Given the description of an element on the screen output the (x, y) to click on. 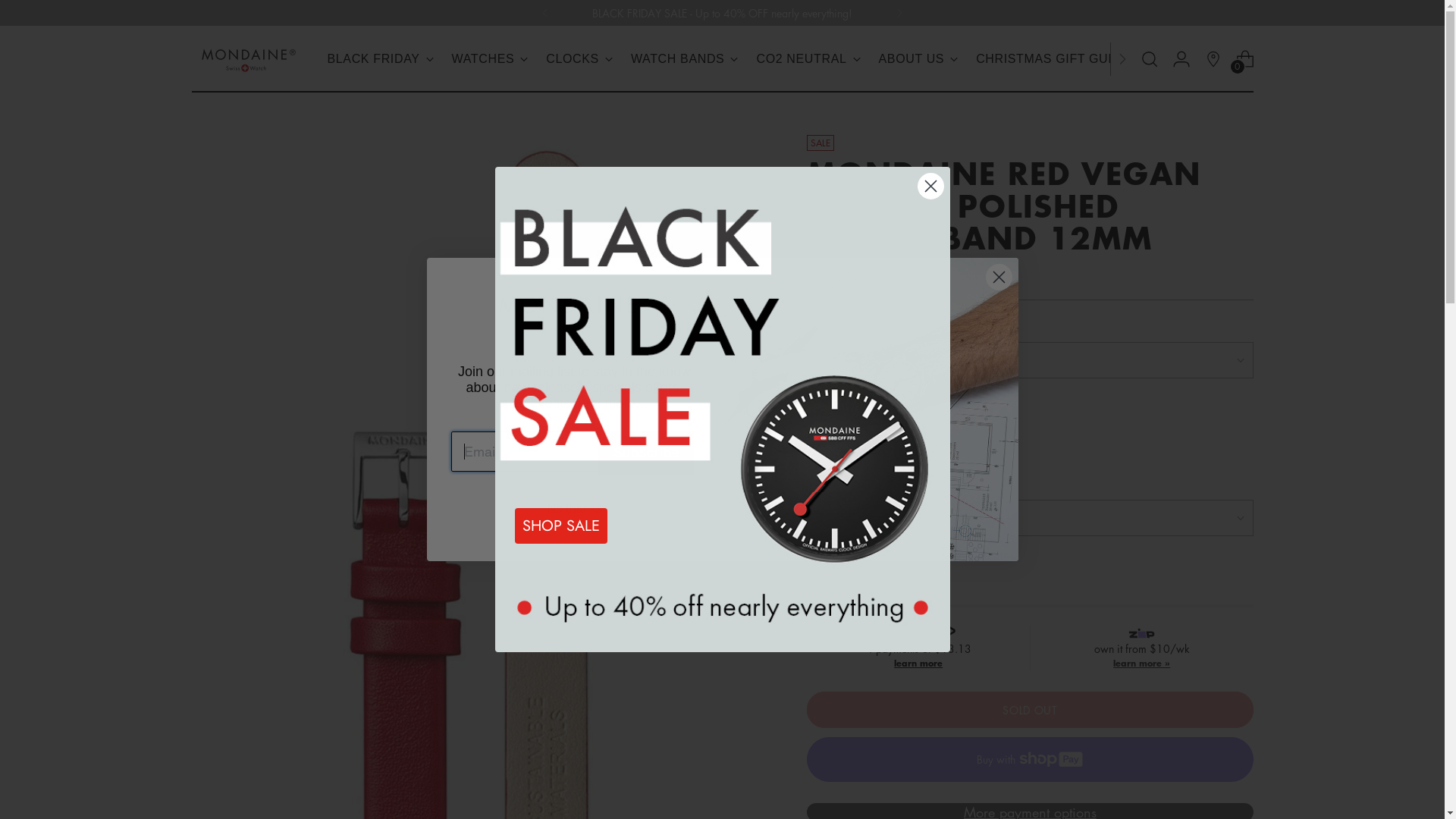
12mm Element type: text (878, 439)
Subscribe Element type: text (645, 452)
CHRISTMAS GIFT GUIDE Element type: text (1052, 58)
SOLD OUT Element type: text (1029, 709)
Close dialog 1 Element type: text (998, 276)
Next Element type: hover (1121, 58)
CO2 NEUTRAL Element type: text (807, 58)
CLOCKS Element type: text (579, 58)
No thanks Element type: text (574, 508)
Next Element type: hover (899, 12)
WATCHES Element type: text (489, 58)
Free delivery for orders > $99 Element type: text (722, 13)
Previous Element type: hover (544, 12)
Submit Element type: text (22, 9)
Close dialog 2 Element type: text (930, 185)
ABOUT US Element type: text (918, 58)
Mondaine Australia Element type: hover (869, 409)
BLACK FRIDAY Element type: text (380, 58)
0 Element type: text (1245, 58)
WATCH BANDS Element type: text (684, 58)
learn more Element type: text (918, 662)
SHOP SALE Element type: text (560, 525)
